Given the description of an element on the screen output the (x, y) to click on. 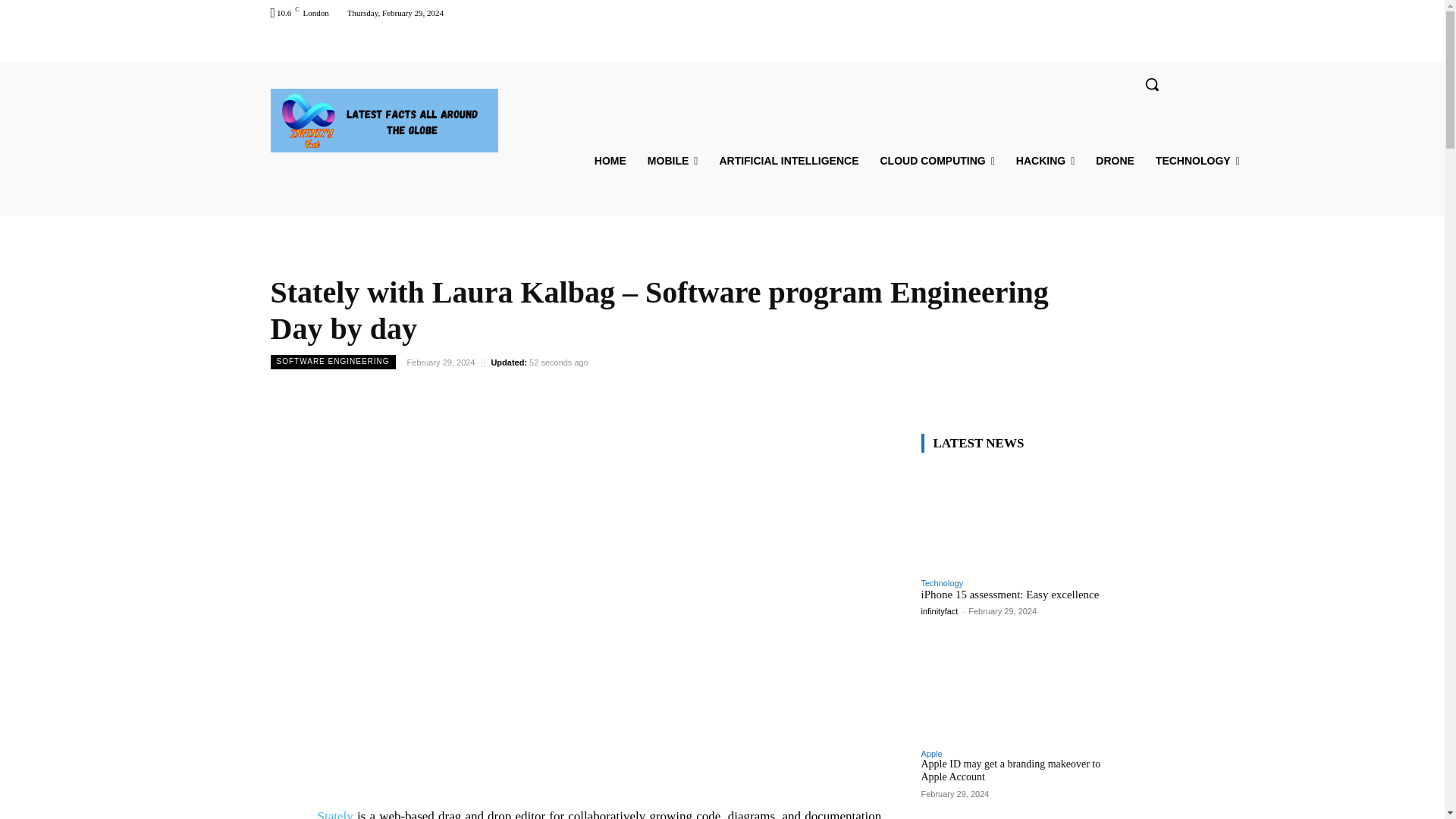
HOME (610, 160)
HACKING (1045, 160)
CLOUD COMPUTING (936, 160)
ARTIFICIAL INTELLIGENCE (788, 160)
MOBILE (673, 160)
